Given the description of an element on the screen output the (x, y) to click on. 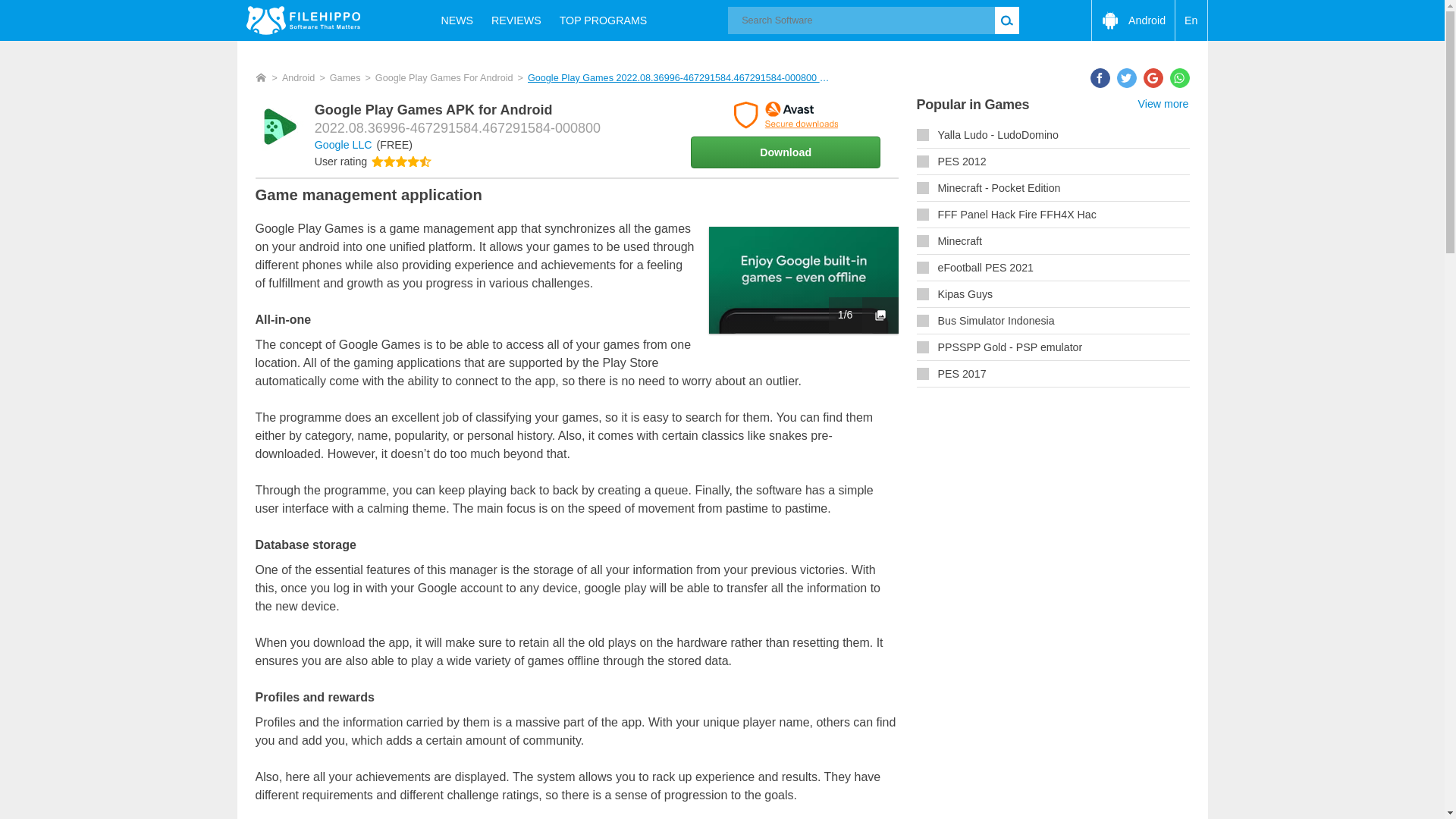
REVIEWS (515, 20)
Games (345, 77)
NEWS (455, 20)
Android (1133, 20)
Android (298, 77)
Android (1133, 20)
News (455, 20)
Filehippo (302, 20)
Google Play Games For Android (444, 77)
